Given the description of an element on the screen output the (x, y) to click on. 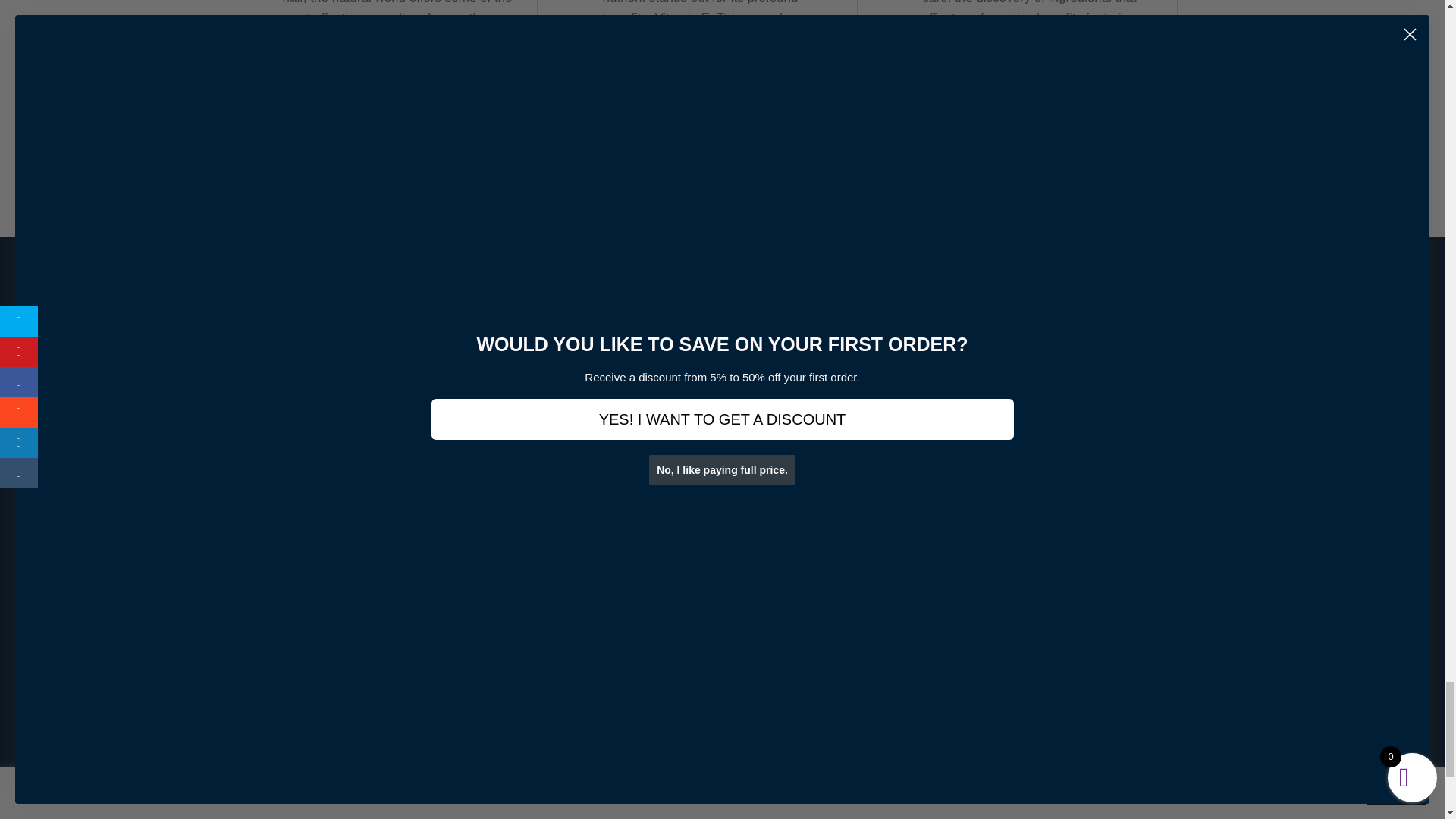
google-pay (751, 339)
Follow on Facebook (965, 735)
paypal (524, 339)
Follow on X (996, 735)
mastercard (599, 339)
visa-electron (904, 339)
Follow on TikTok (1117, 735)
Follow on Instagram (1026, 735)
Follow on Pinterest (1056, 735)
apple-pay (675, 339)
Follow on Youtube (1087, 735)
visa (827, 339)
